Given the description of an element on the screen output the (x, y) to click on. 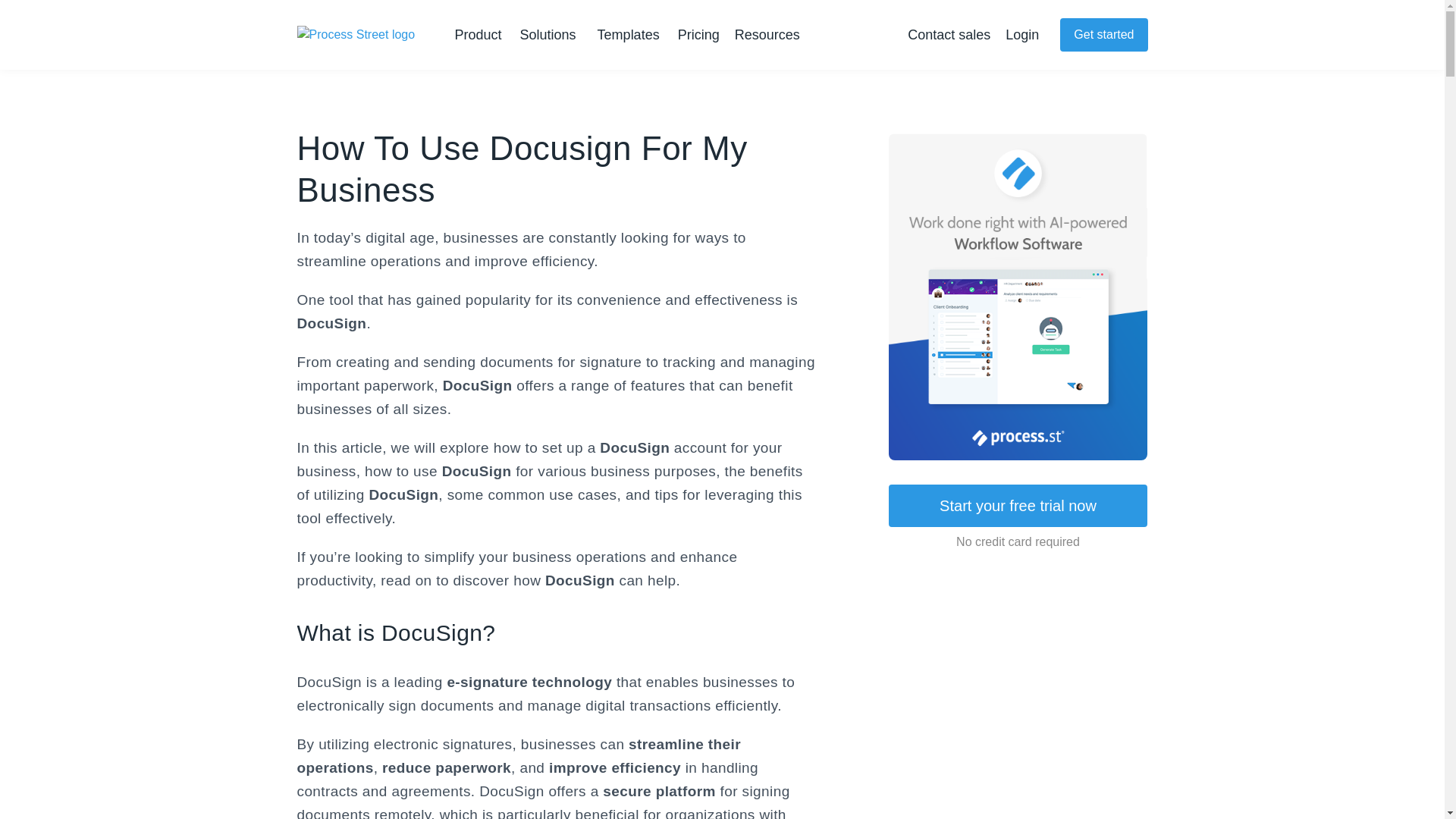
Pricing (698, 34)
Contact sales (948, 34)
Contact Process Street sales (948, 34)
Resources (770, 34)
Process Street login (1022, 34)
Process Street (358, 35)
Login (1022, 34)
Try Process Street for free (1103, 34)
Templates (627, 34)
Process Street pricing (698, 34)
